Given the description of an element on the screen output the (x, y) to click on. 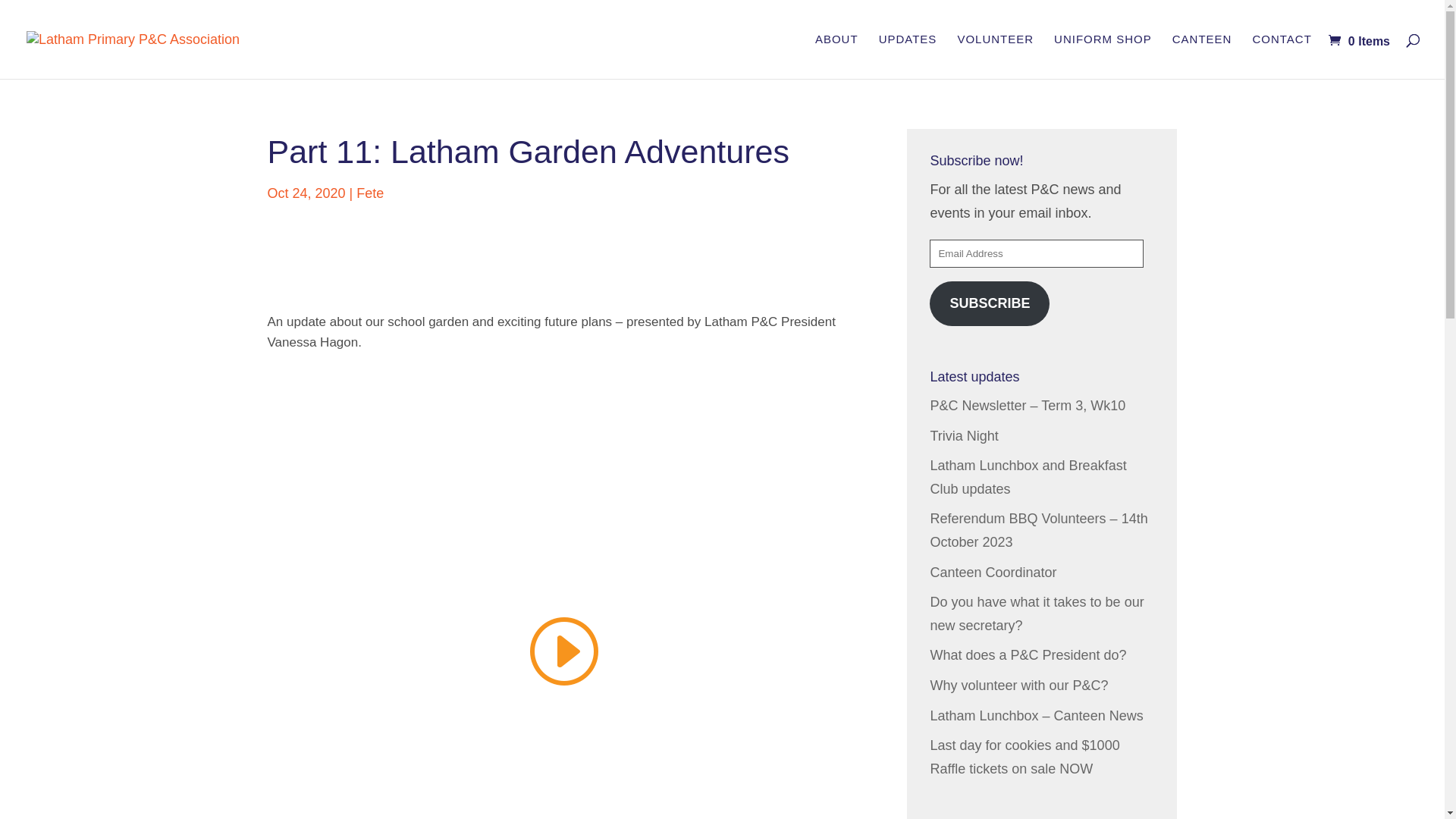
0 Items Element type: text (1359, 41)
Fete Element type: text (369, 192)
Trivia Night Element type: text (963, 435)
Why volunteer with our P&C? Element type: text (1018, 685)
Last day for cookies and $1000 Raffle tickets on sale NOW Element type: text (1024, 756)
UNIFORM SHOP Element type: text (1102, 56)
What does a P&C President do? Element type: text (1027, 654)
CONTACT Element type: text (1281, 56)
Do you have what it takes to be our new secretary? Element type: text (1036, 613)
Latham Lunchbox and Breakfast Club updates Element type: text (1027, 477)
Canteen Coordinator Element type: text (992, 572)
VOLUNTEER Element type: text (995, 56)
CANTEEN Element type: text (1202, 56)
SUBSCRIBE Element type: text (989, 303)
ABOUT Element type: text (836, 56)
UPDATES Element type: text (907, 56)
